Given the description of an element on the screen output the (x, y) to click on. 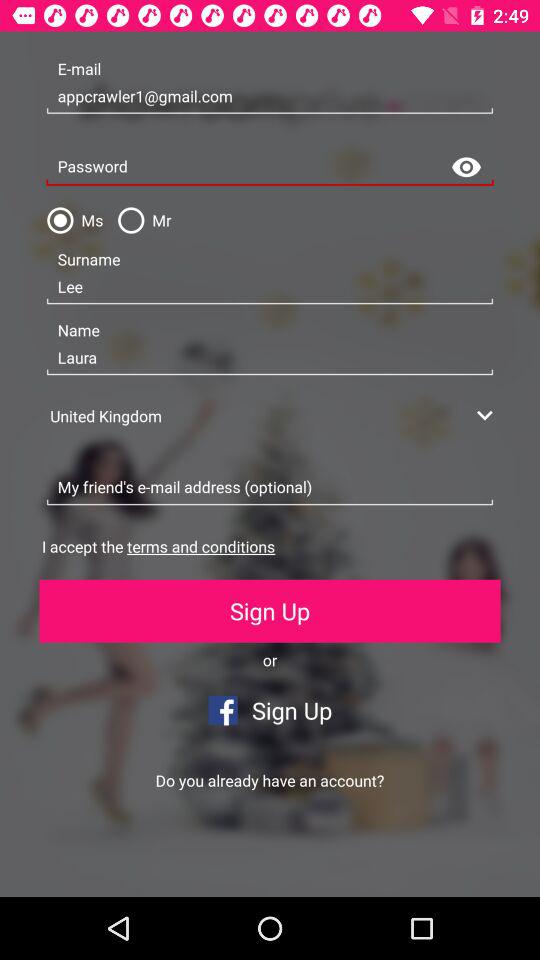
launch the icon below the do you already icon (135, 864)
